Given the description of an element on the screen output the (x, y) to click on. 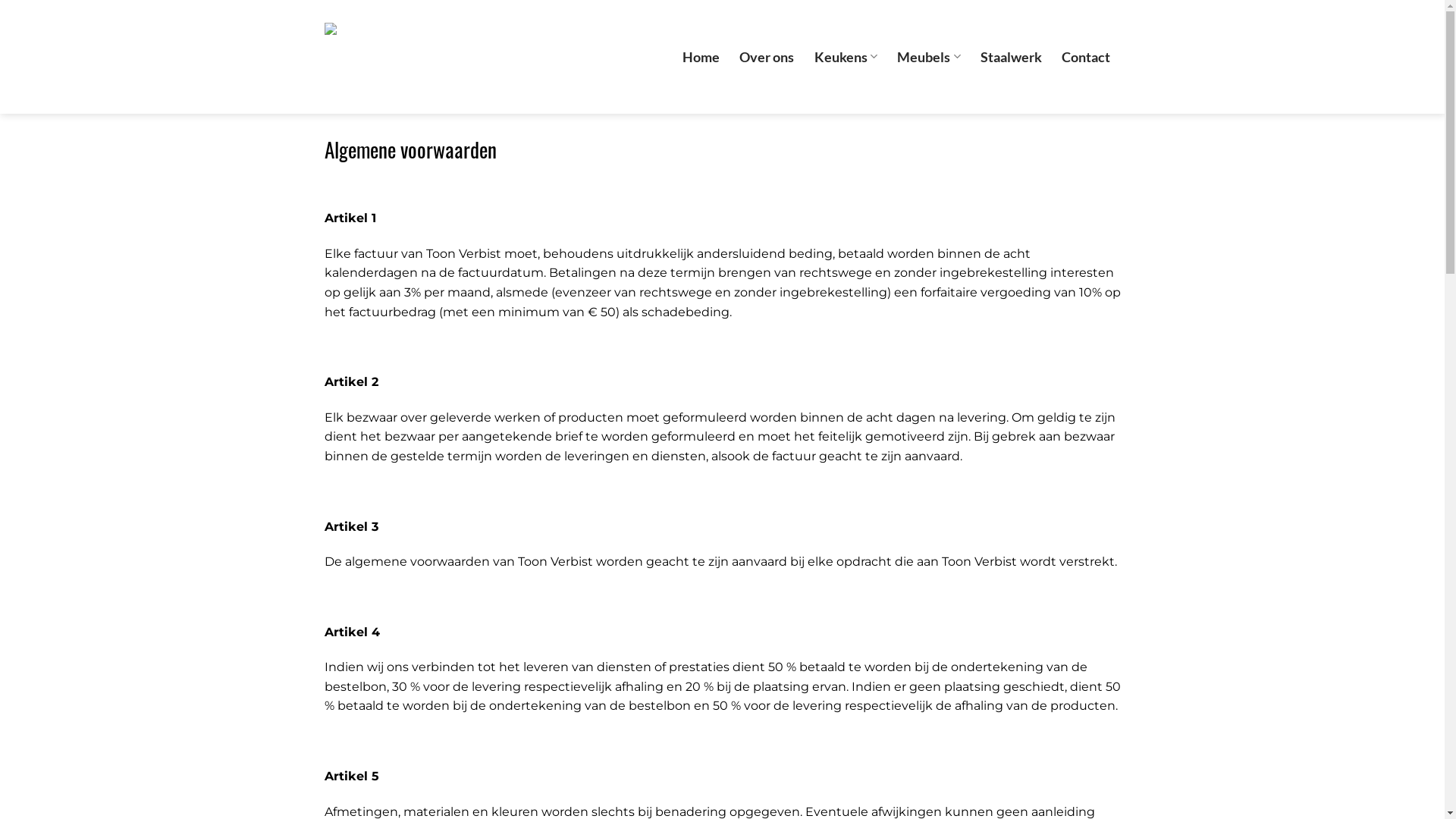
Home Element type: text (700, 56)
Over ons Element type: text (766, 56)
Staalwerk Element type: text (1010, 56)
Ateliers Verbist - Schrijnwerkerij Element type: hover (400, 56)
Meubels Element type: text (928, 56)
Contact Element type: text (1085, 56)
Keukens Element type: text (846, 56)
